Given the description of an element on the screen output the (x, y) to click on. 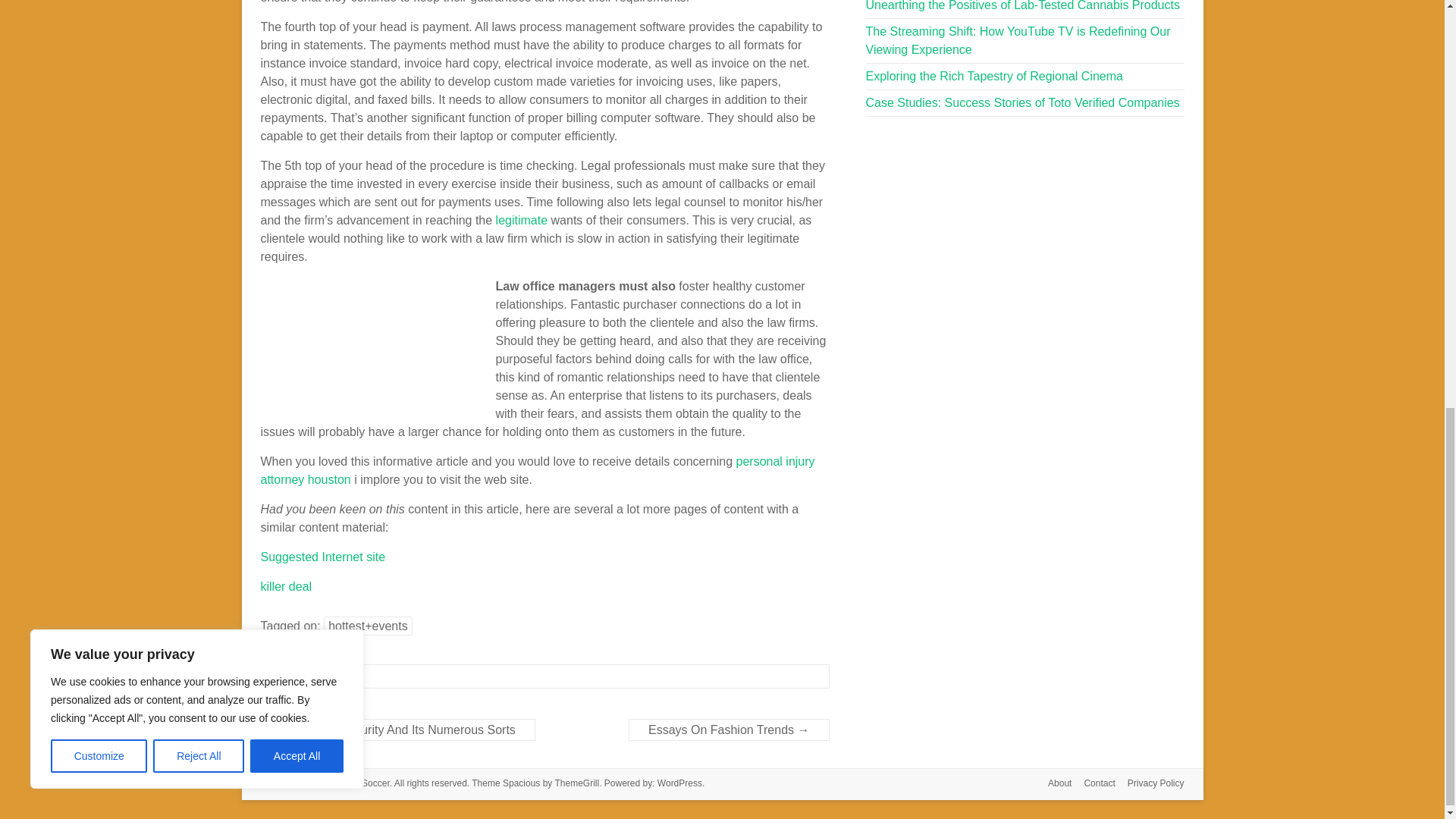
WordPress (679, 783)
Suggested Internet site (322, 556)
General (301, 676)
Spacious (521, 783)
Friday Soccer (360, 783)
killer deal (286, 585)
legitimate (521, 219)
personal injury attorney houston (537, 470)
